Given the description of an element on the screen output the (x, y) to click on. 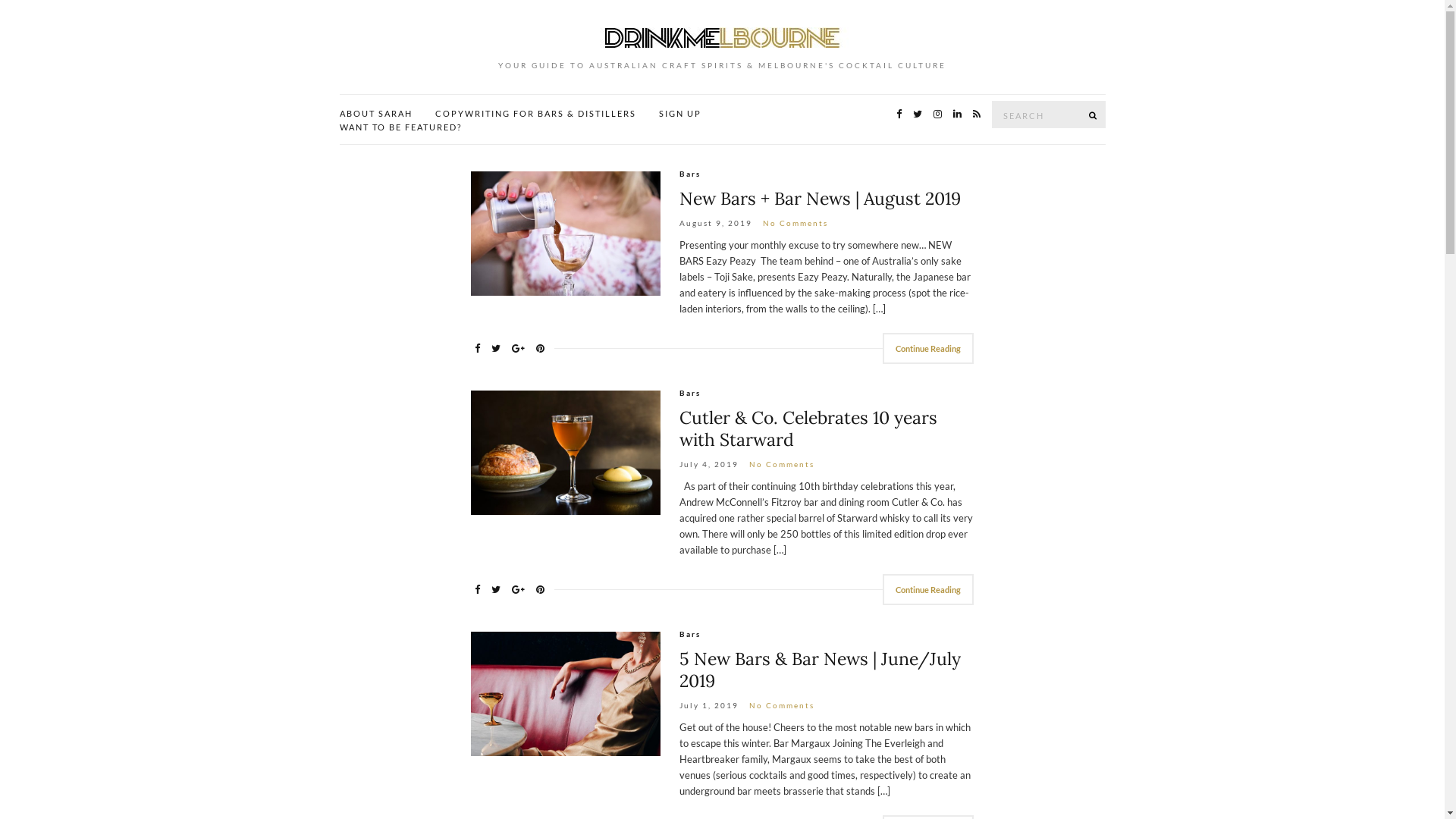
No Comments Element type: text (781, 704)
Cutler & Co. Celebrates 10 years with Starward Element type: text (808, 428)
New Bars + Bar News | August 2019 Element type: text (819, 198)
No Comments Element type: text (781, 463)
Continue Reading Element type: text (927, 348)
Bars Element type: text (689, 633)
5 New Bars & Bar News | June/July 2019 Element type: text (819, 669)
SIGN UP Element type: text (679, 113)
Continue Reading Element type: text (927, 589)
Bars Element type: text (689, 392)
Bars Element type: text (689, 173)
COPYWRITING FOR BARS & DISTILLERS Element type: text (535, 113)
Search Element type: text (1093, 114)
No Comments Element type: text (795, 222)
ABOUT SARAH Element type: text (375, 113)
WANT TO BE FEATURED? Element type: text (400, 127)
